Given the description of an element on the screen output the (x, y) to click on. 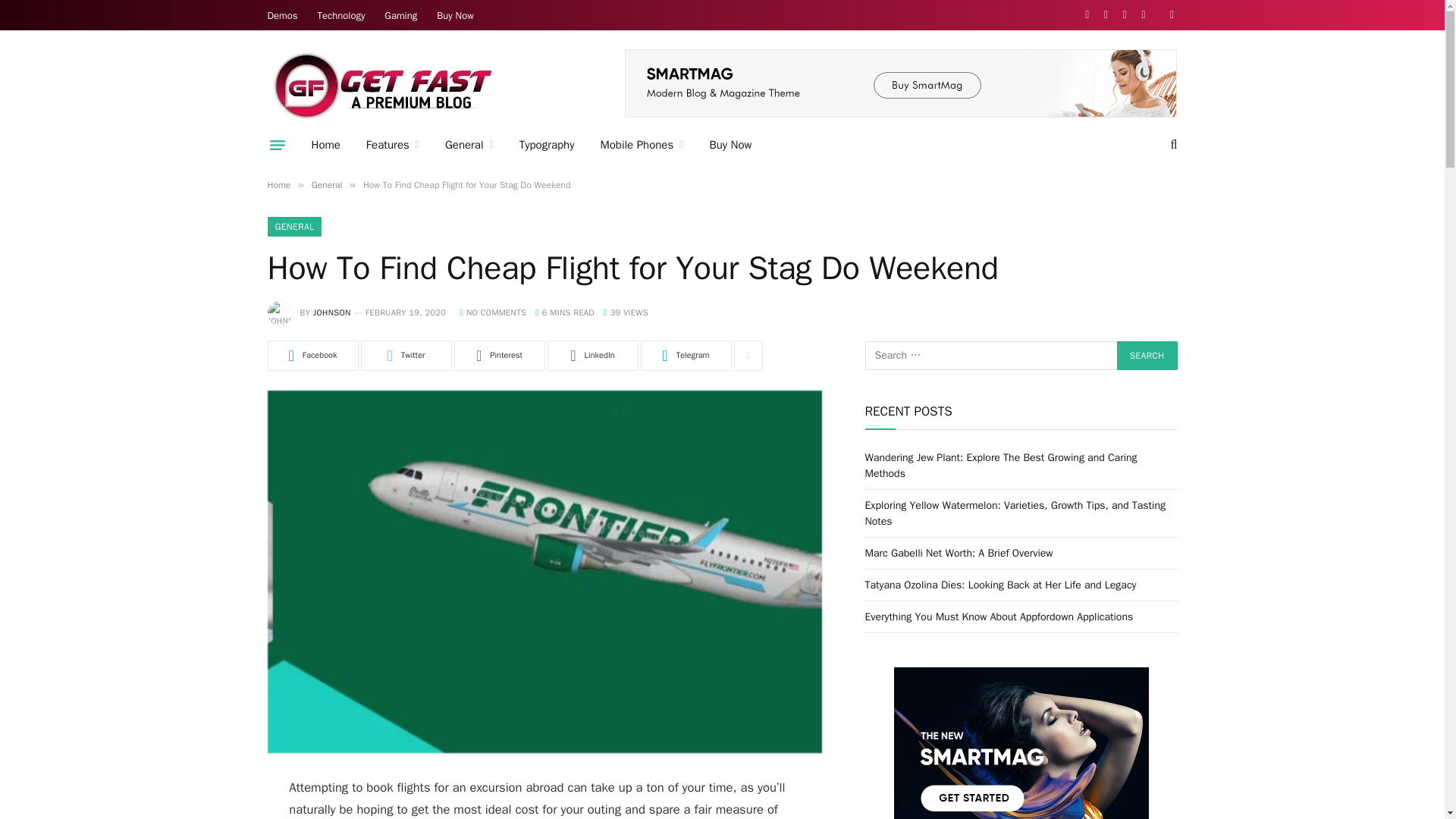
Search (1146, 355)
Features (392, 144)
Technology (341, 15)
Home (325, 144)
Gaming (400, 15)
Demos (282, 15)
Get Fast (380, 84)
Switch to Dark Design - easier on eyes. (1169, 14)
Buy Now (454, 15)
General (469, 144)
Search (1146, 355)
